Given the description of an element on the screen output the (x, y) to click on. 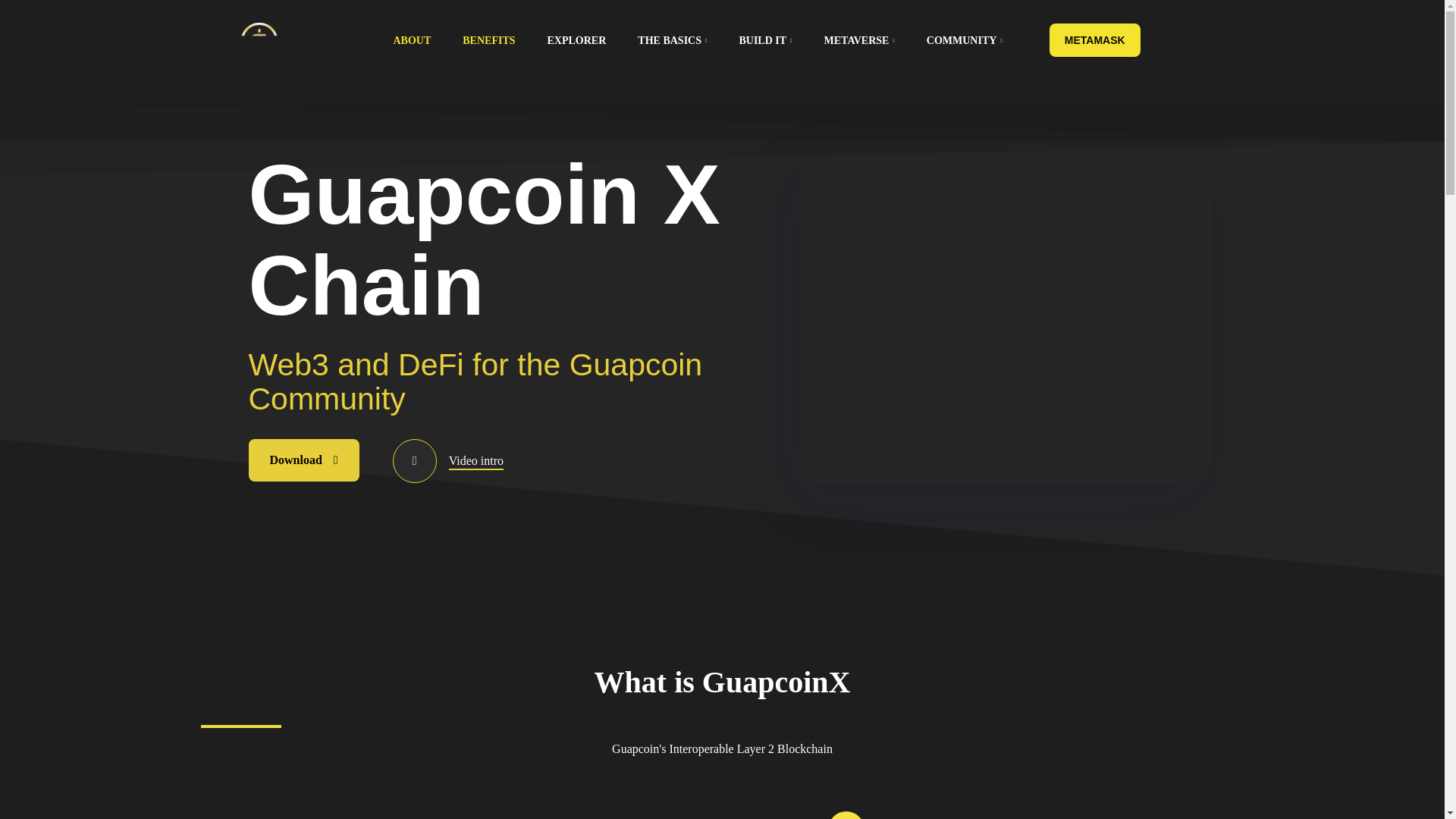
ABOUT (426, 40)
METAMASK (1094, 39)
THE BASICS (686, 40)
BENEFITS (503, 40)
BUILD IT (779, 40)
COMMUNITY (978, 40)
EXPLORER (590, 40)
METAVERSE (873, 40)
